Given the description of an element on the screen output the (x, y) to click on. 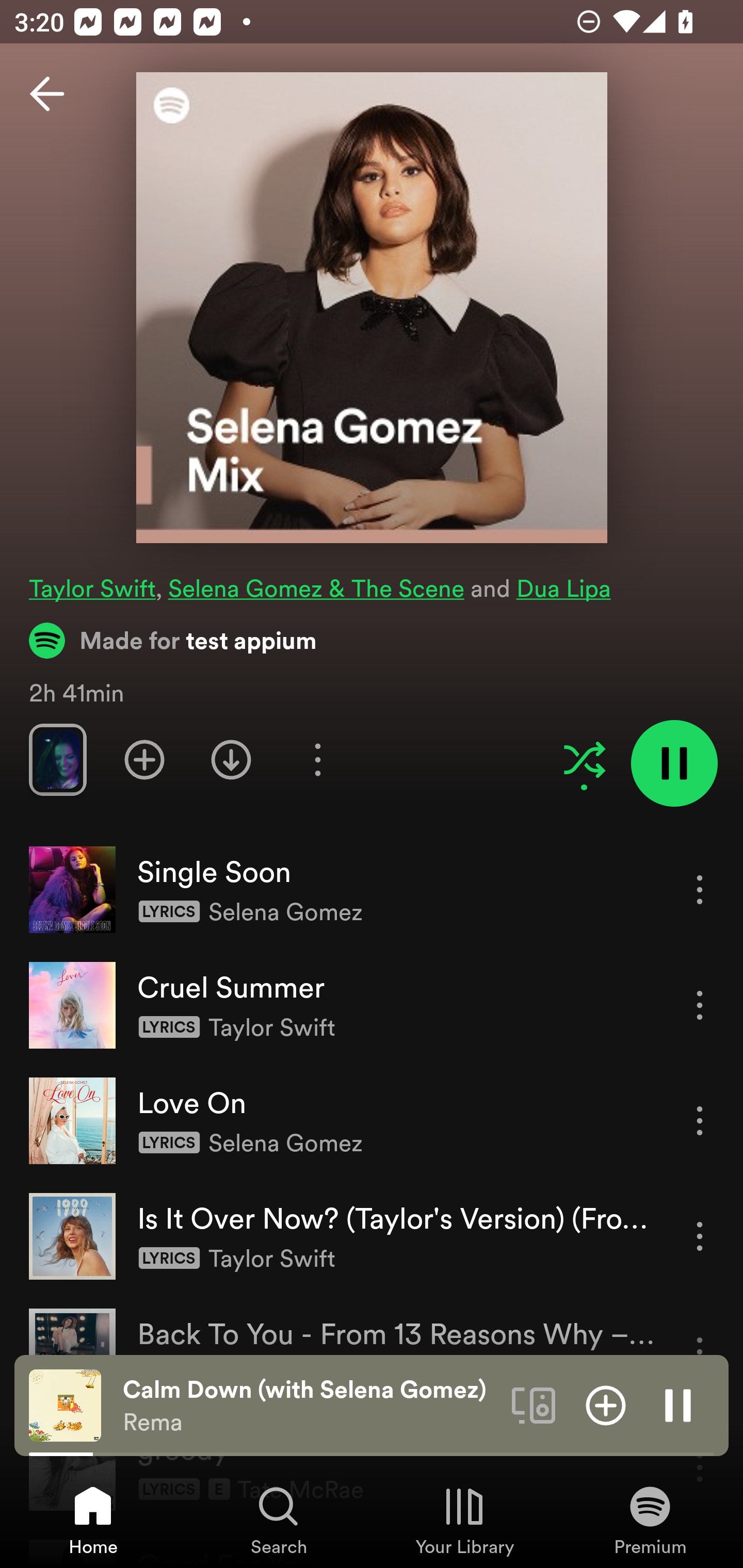
Back (46, 93)
Made for test appium (172, 640)
Add playlist to Your Library (144, 759)
Download (230, 759)
More options for playlist Selena Gomez Mix (317, 759)
Disable shuffle for this playlist (583, 759)
Pause playlist (674, 763)
More options for song Single Soon (699, 889)
More options for song Cruel Summer (699, 1004)
More options for song Love On (699, 1120)
Calm Down (with Selena Gomez) Rema (309, 1405)
The cover art of the currently playing track (64, 1404)
Connect to a device. Opens the devices menu (533, 1404)
Add item (605, 1404)
Pause (677, 1404)
Home, Tab 1 of 4 Home Home (92, 1519)
Search, Tab 2 of 4 Search Search (278, 1519)
Your Library, Tab 3 of 4 Your Library Your Library (464, 1519)
Premium, Tab 4 of 4 Premium Premium (650, 1519)
